Given the description of an element on the screen output the (x, y) to click on. 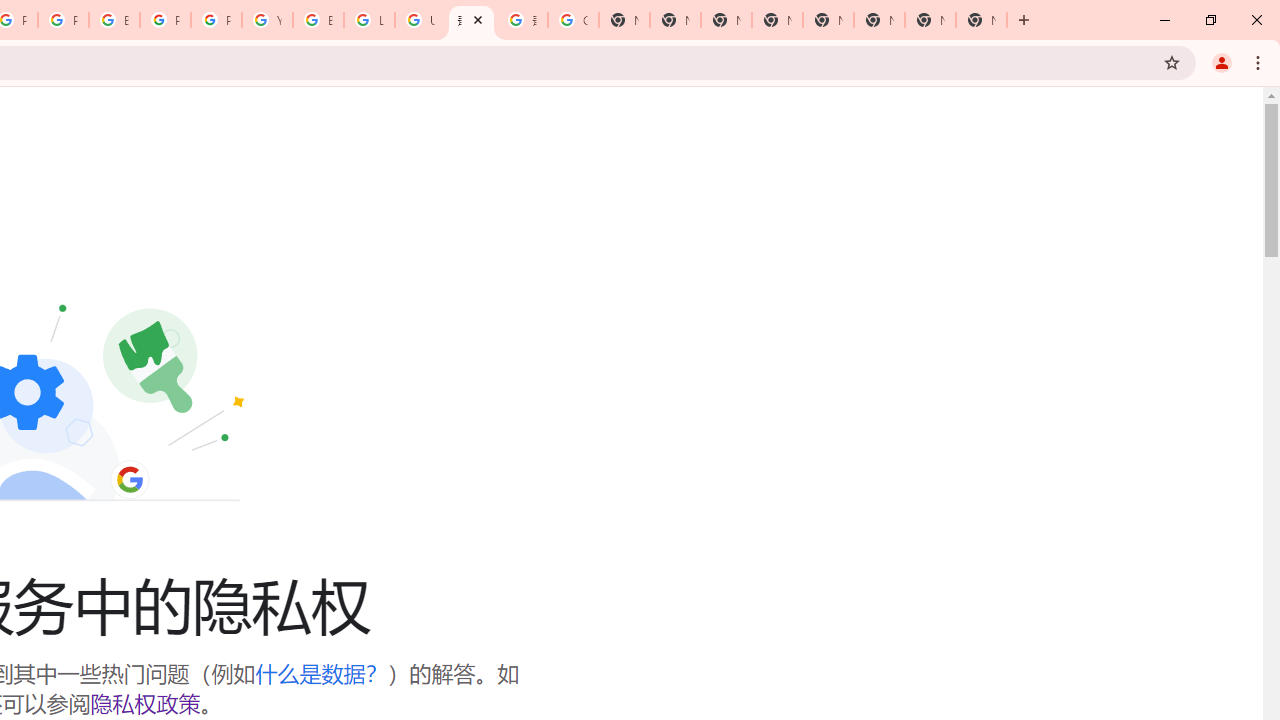
New Tab (878, 20)
New Tab (981, 20)
